Given the description of an element on the screen output the (x, y) to click on. 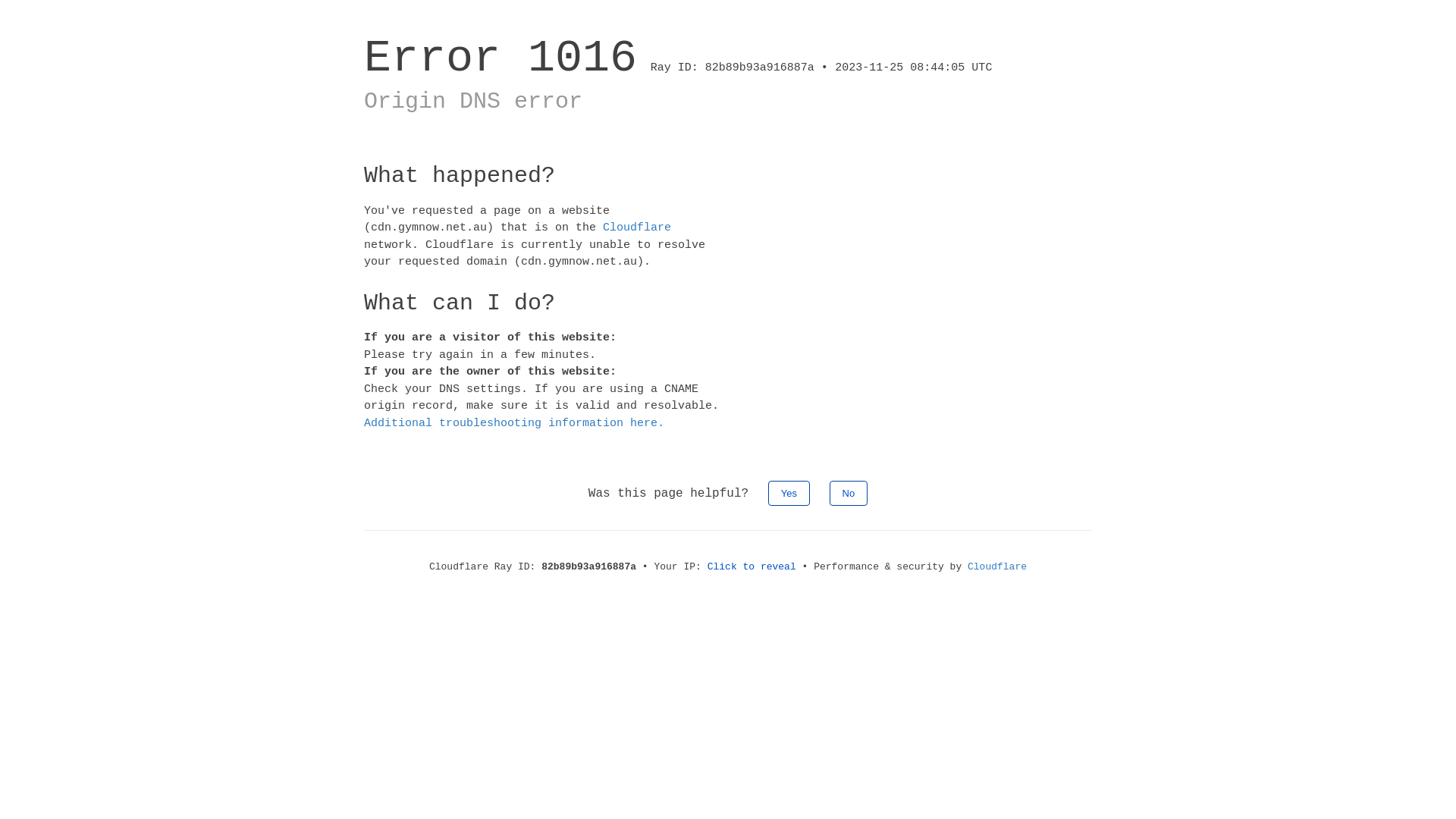
Cloudflare Element type: text (996, 566)
Additional troubleshooting information here. Element type: text (514, 423)
No Element type: text (848, 492)
Click to reveal Element type: text (751, 566)
Yes Element type: text (788, 492)
Cloudflare Element type: text (636, 227)
